Given the description of an element on the screen output the (x, y) to click on. 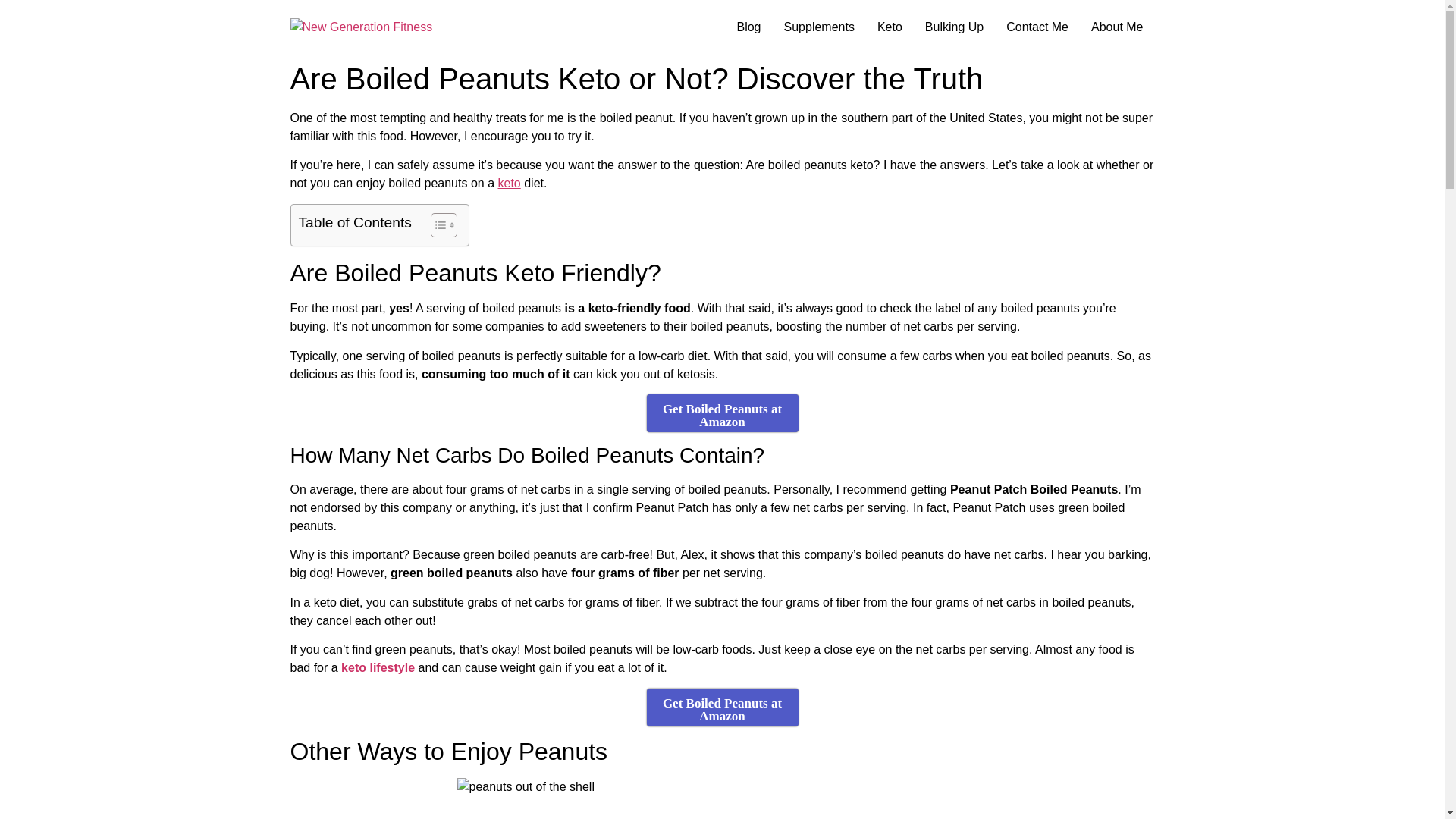
Bulking Up (954, 27)
Keto (890, 27)
Get Boiled Peanuts at Amazon (721, 412)
Supplements (819, 27)
About Me (1117, 27)
Get Boiled Peanuts at Amazon (721, 707)
keto (508, 182)
Contact Me (1037, 27)
keto lifestyle (377, 667)
Blog (748, 27)
